Given the description of an element on the screen output the (x, y) to click on. 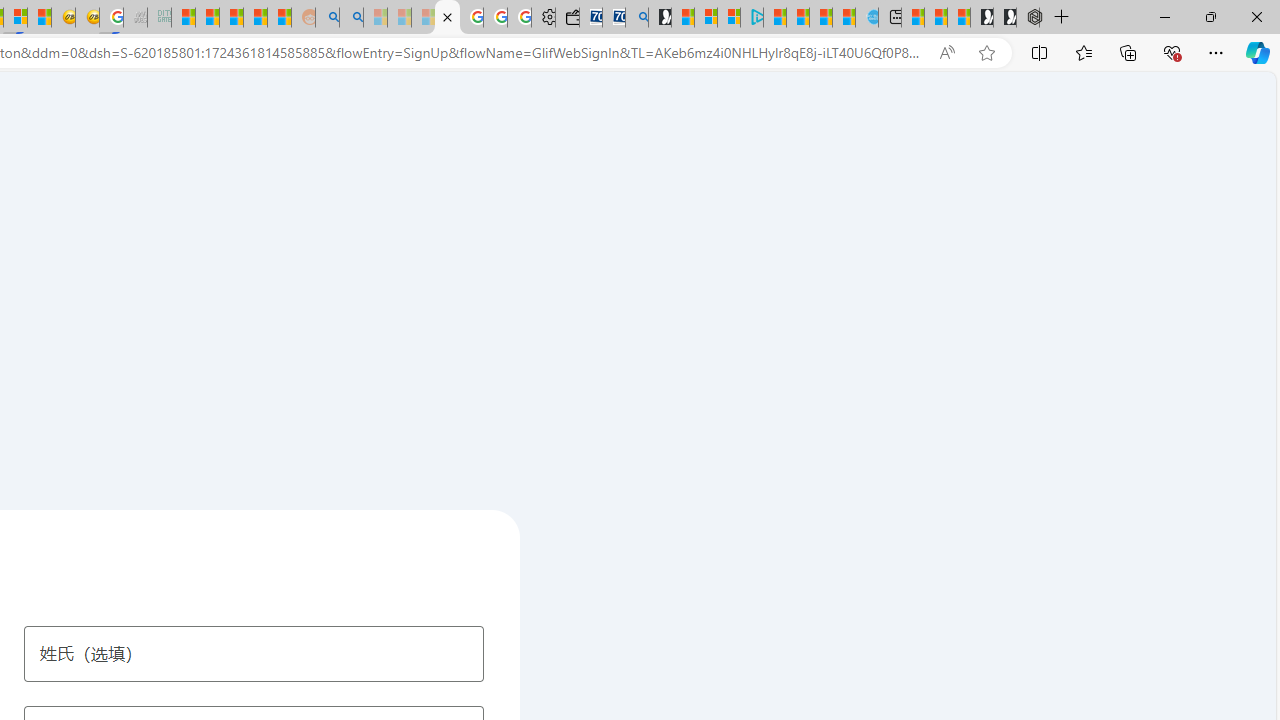
Utah sues federal government - Search (351, 17)
